Given the description of an element on the screen output the (x, y) to click on. 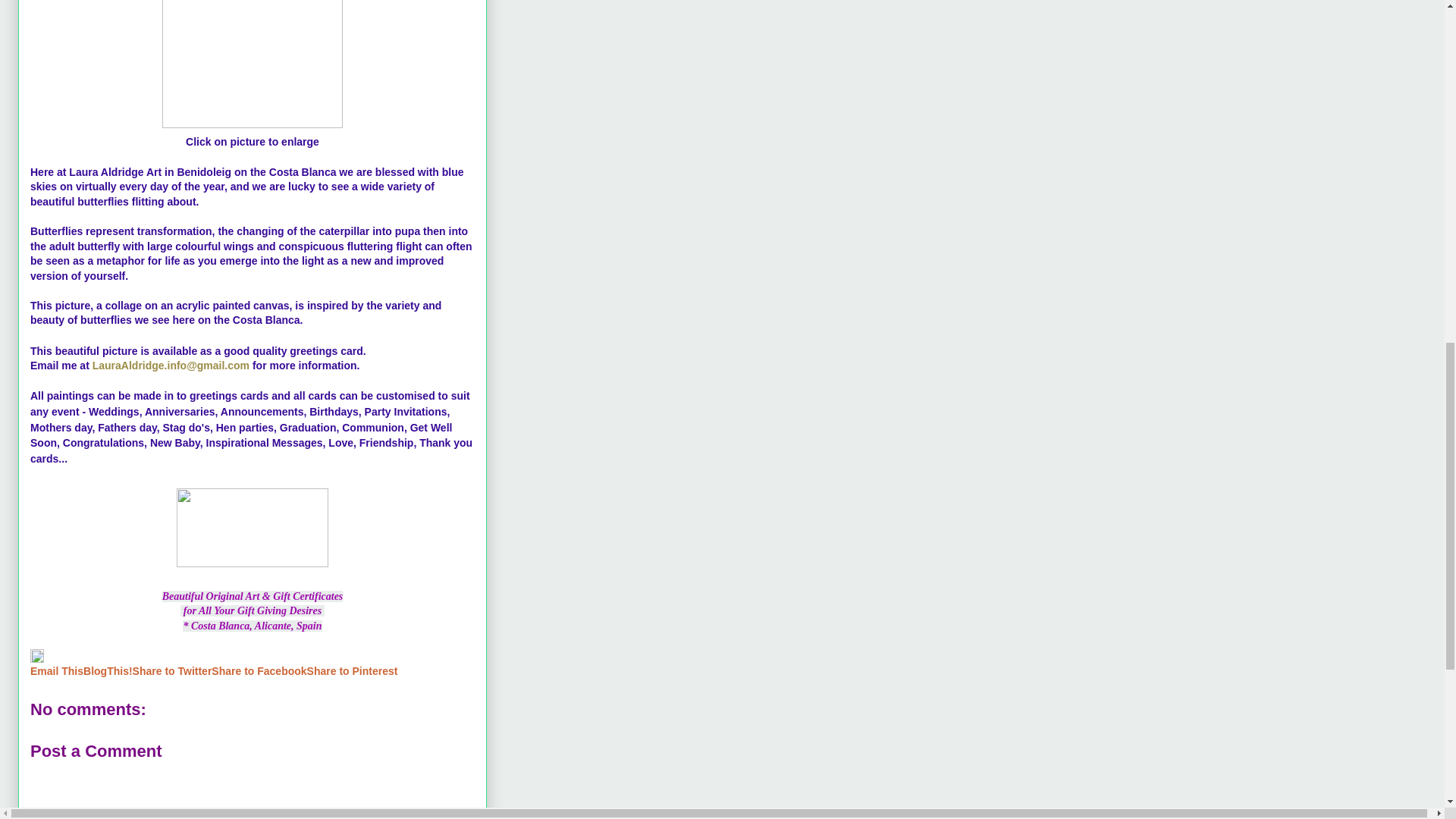
Email This (56, 671)
BlogThis! (107, 671)
Share to Twitter (172, 671)
Share to Facebook (258, 671)
Edit Post (36, 658)
Share to Twitter (172, 671)
BlogThis! (107, 671)
Email This (56, 671)
Share to Facebook (258, 671)
Share to Pinterest (352, 671)
